Given the description of an element on the screen output the (x, y) to click on. 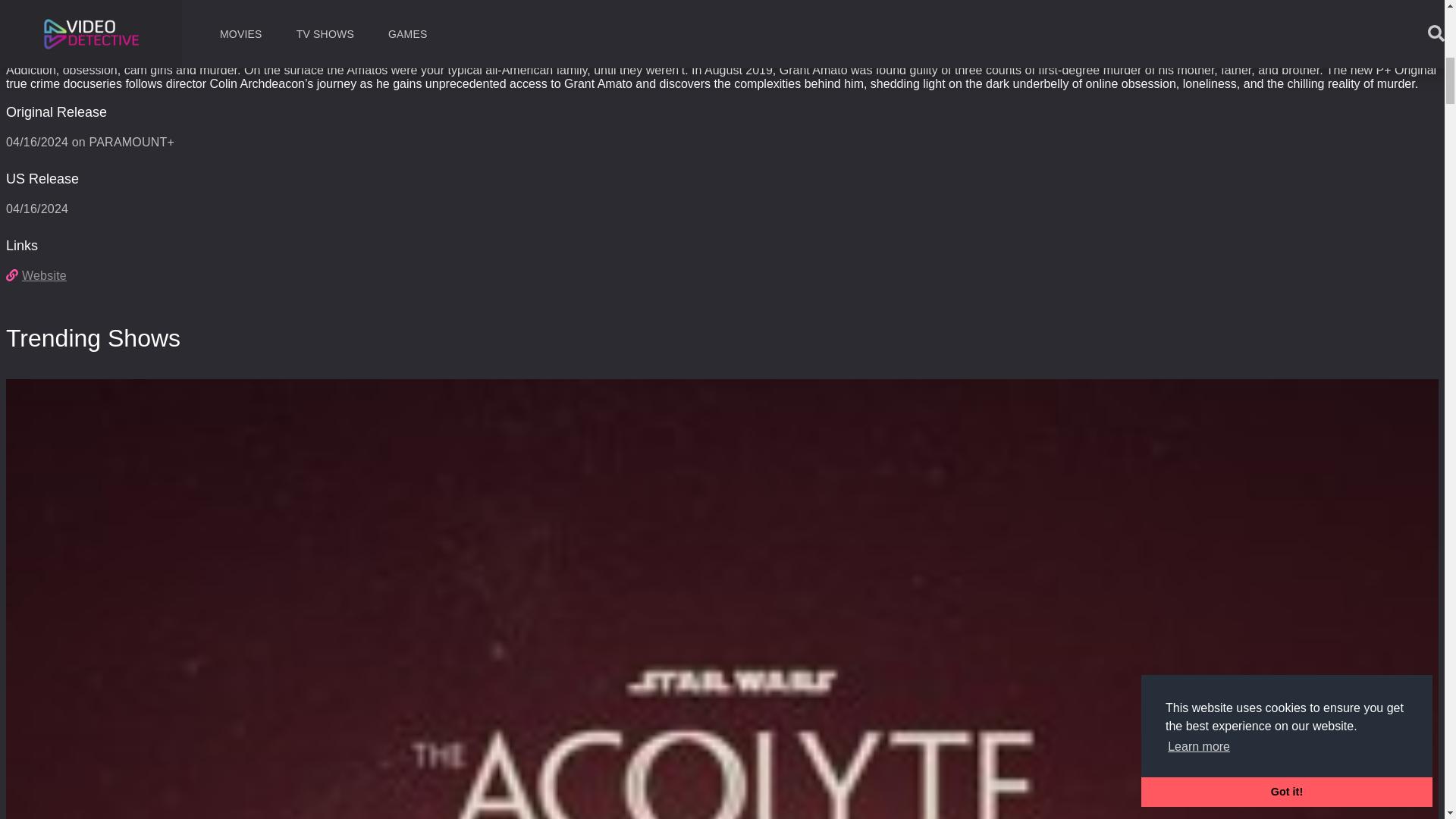
OVERVIEW (34, 12)
Website (35, 275)
PHOTOS (351, 12)
